Given the description of an element on the screen output the (x, y) to click on. 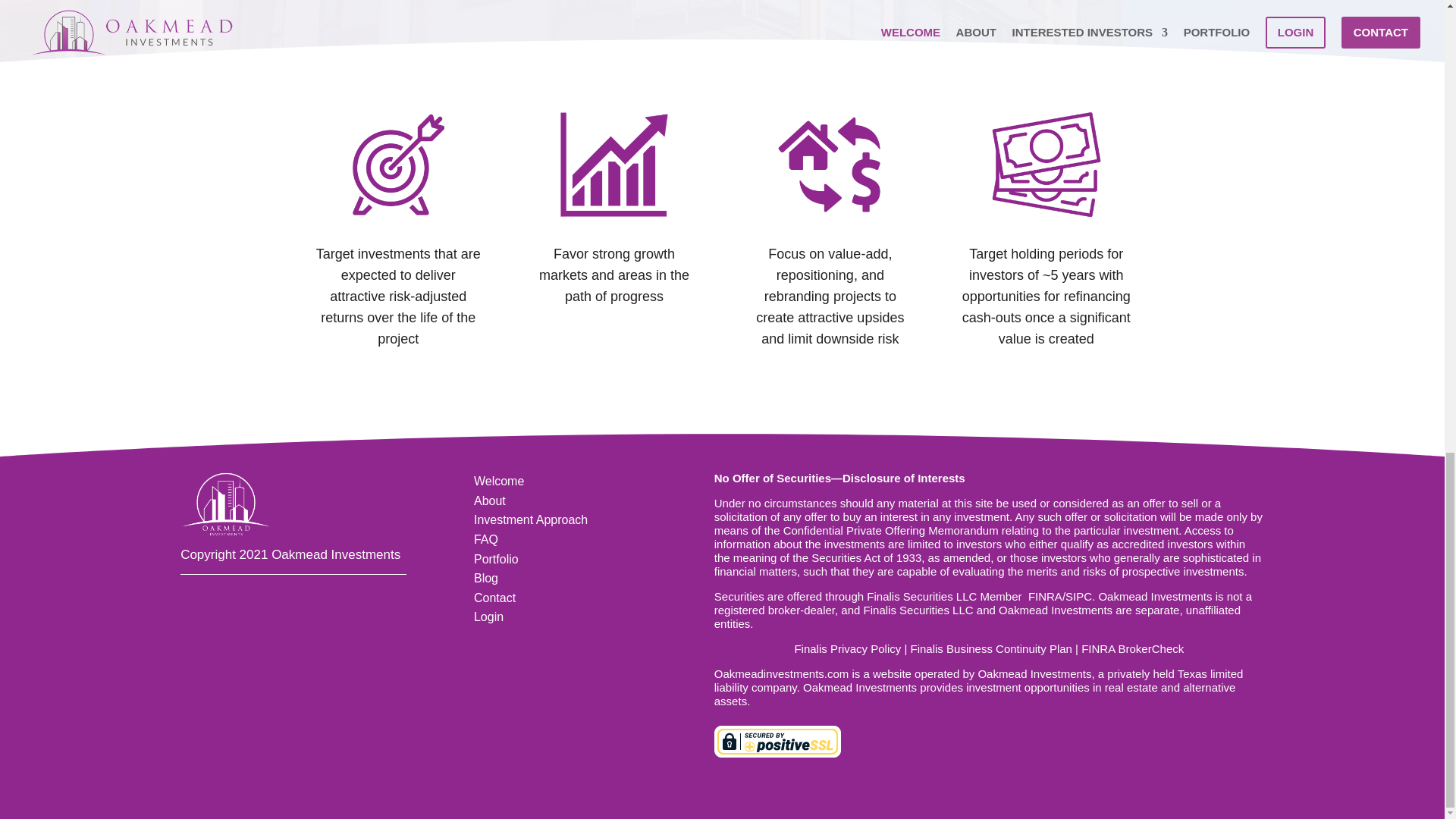
Finalis Business Continuity Plan (991, 648)
About (489, 500)
FINRA BrokerCheck (1132, 648)
Welcome (499, 481)
Oakmead Investments (781, 673)
Oakmeadinvestments.com (781, 673)
Oakmead Investments (1154, 595)
Portfolio (496, 558)
Oakmead Investments (1154, 595)
Login (488, 616)
